Given the description of an element on the screen output the (x, y) to click on. 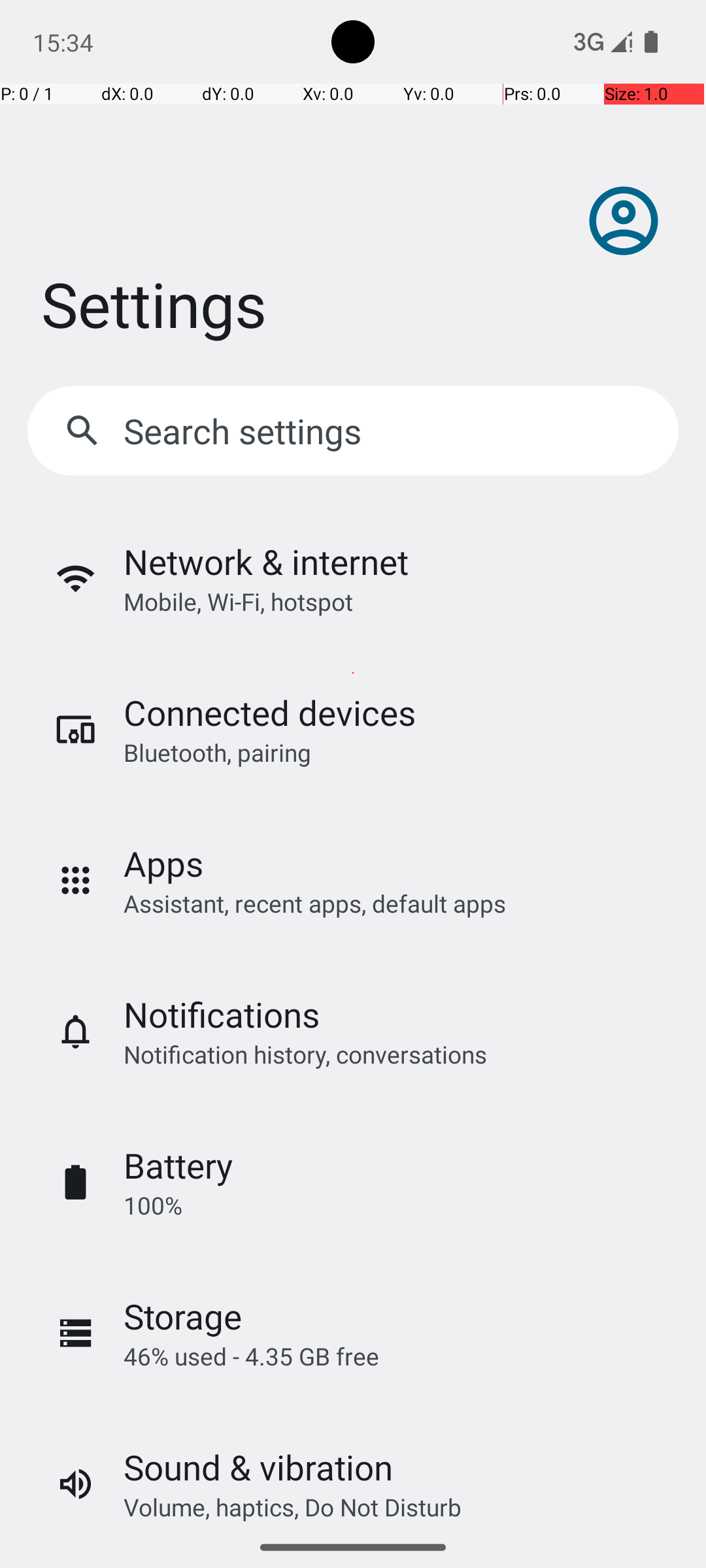
46% used - 4.35 GB free Element type: android.widget.TextView (251, 1355)
